Given the description of an element on the screen output the (x, y) to click on. 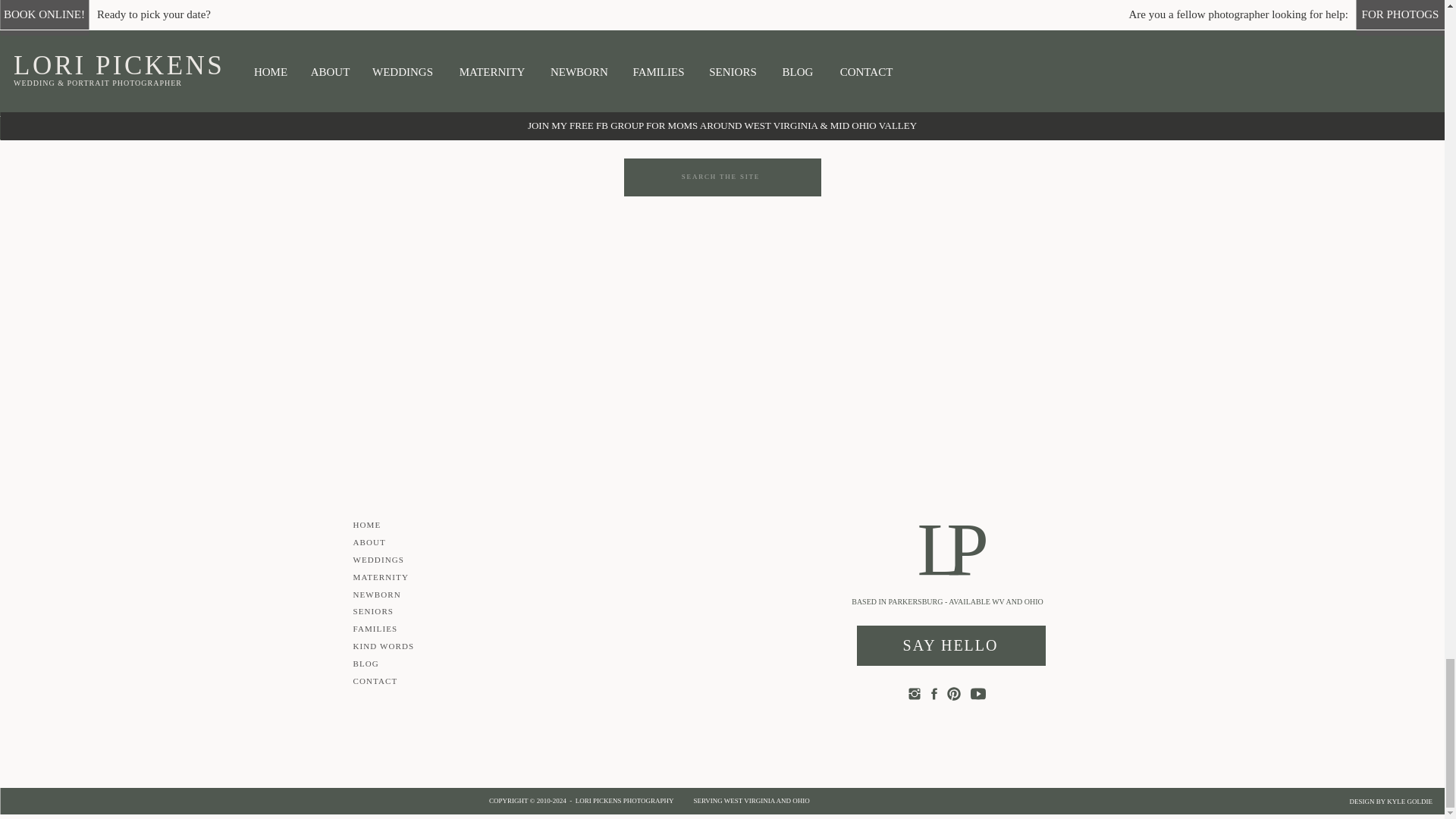
SENIORS (928, 126)
